Given the description of an element on the screen output the (x, y) to click on. 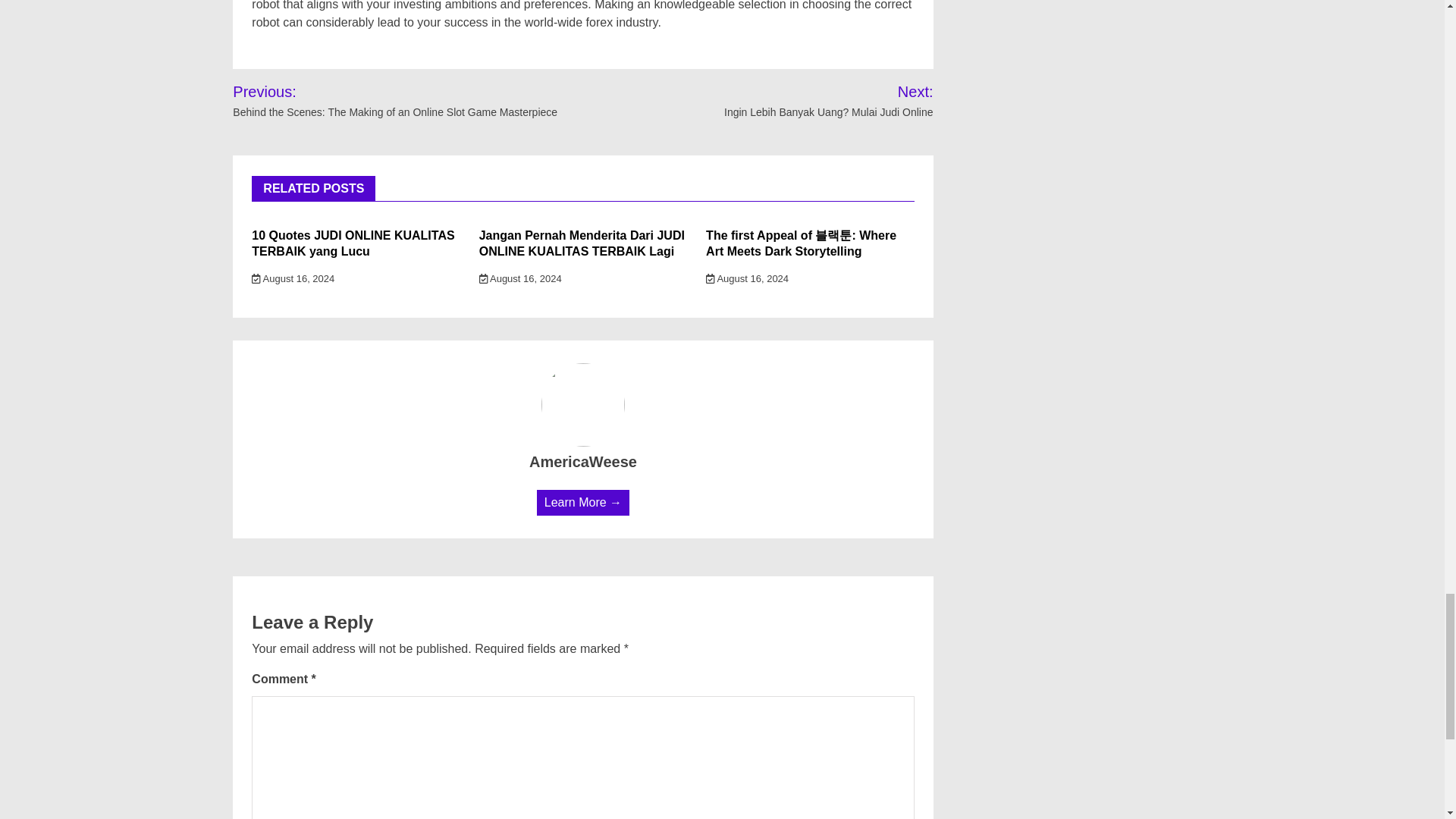
Next: Ingin Lebih Banyak Uang? Mulai Judi Online (809, 100)
August 16, 2024 (292, 278)
August 16, 2024 (520, 278)
10 Quotes JUDI ONLINE KUALITAS TERBAIK yang Lucu (352, 243)
August 16, 2024 (747, 278)
